Given the description of an element on the screen output the (x, y) to click on. 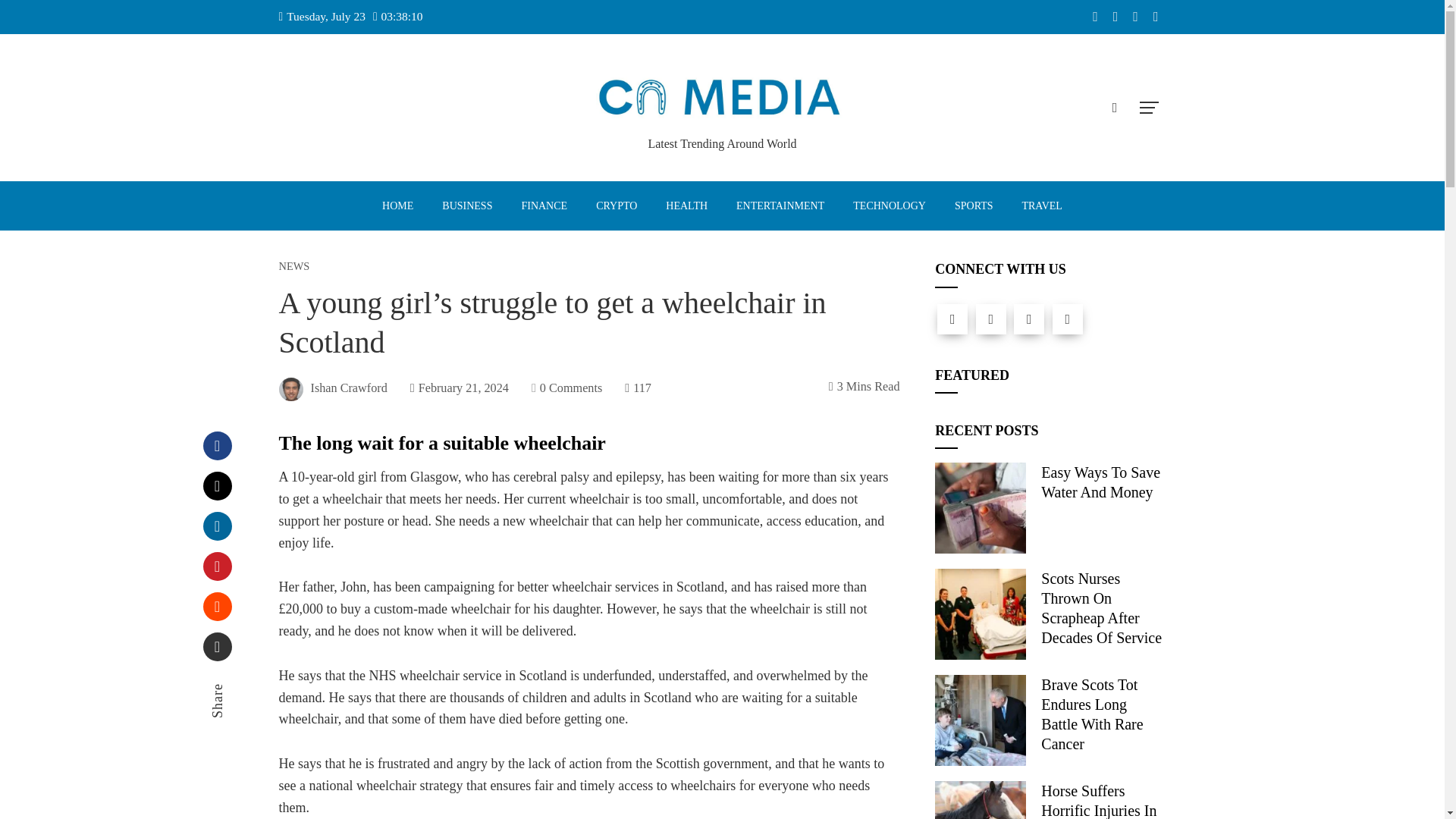
SPORTS (974, 205)
TECHNOLOGY (889, 205)
BUSINESS (466, 205)
LinkedIn (217, 525)
NEWS (294, 266)
Facebook (952, 318)
FINANCE (543, 205)
Pinterest (217, 566)
HEALTH (686, 205)
Stumbleupon (217, 606)
HOME (397, 205)
TRAVEL (1041, 205)
CRYPTO (616, 205)
Twitter (990, 318)
Youtube (1067, 318)
